Given the description of an element on the screen output the (x, y) to click on. 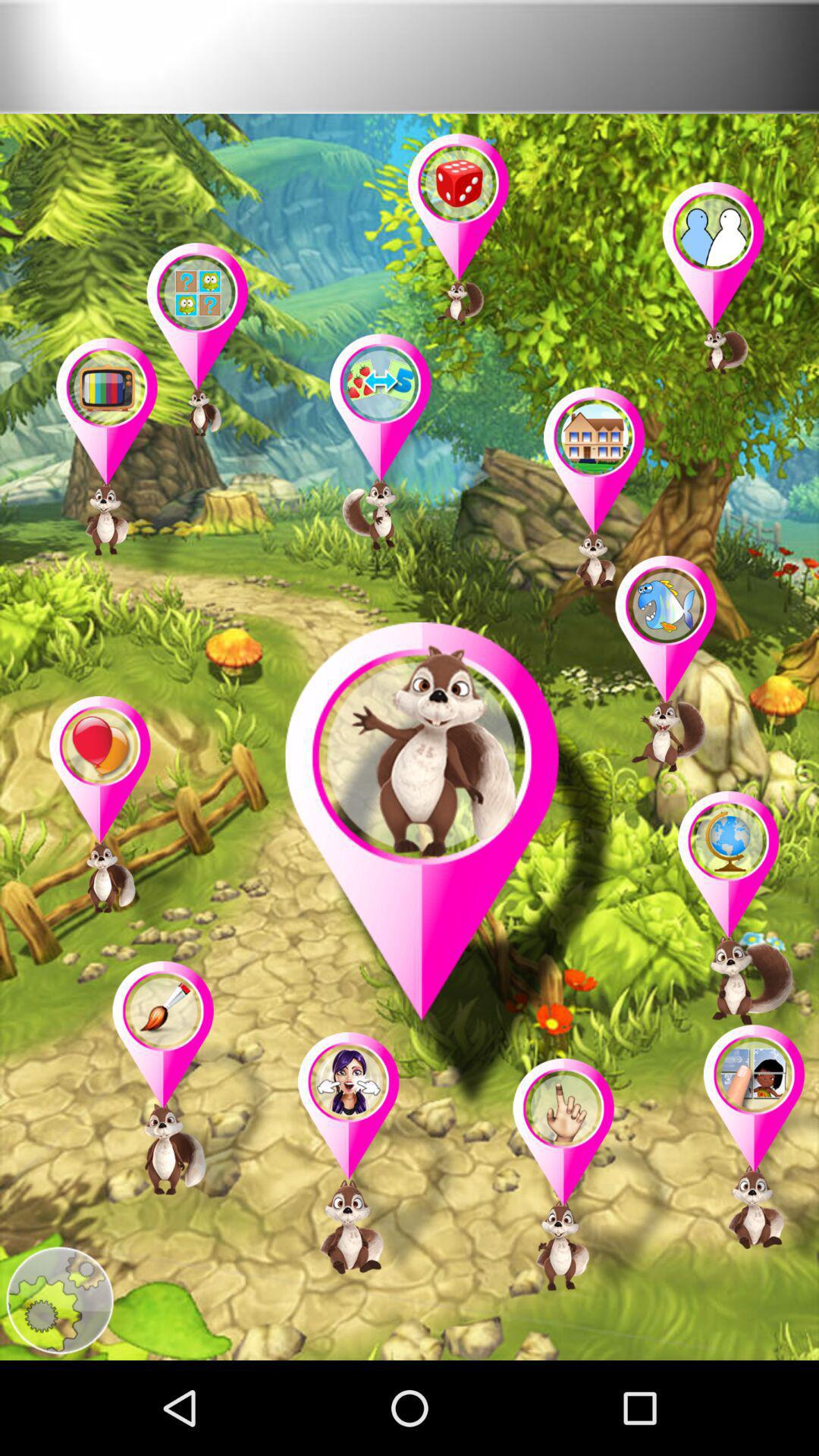
select the squirrel (740, 915)
